Given the description of an element on the screen output the (x, y) to click on. 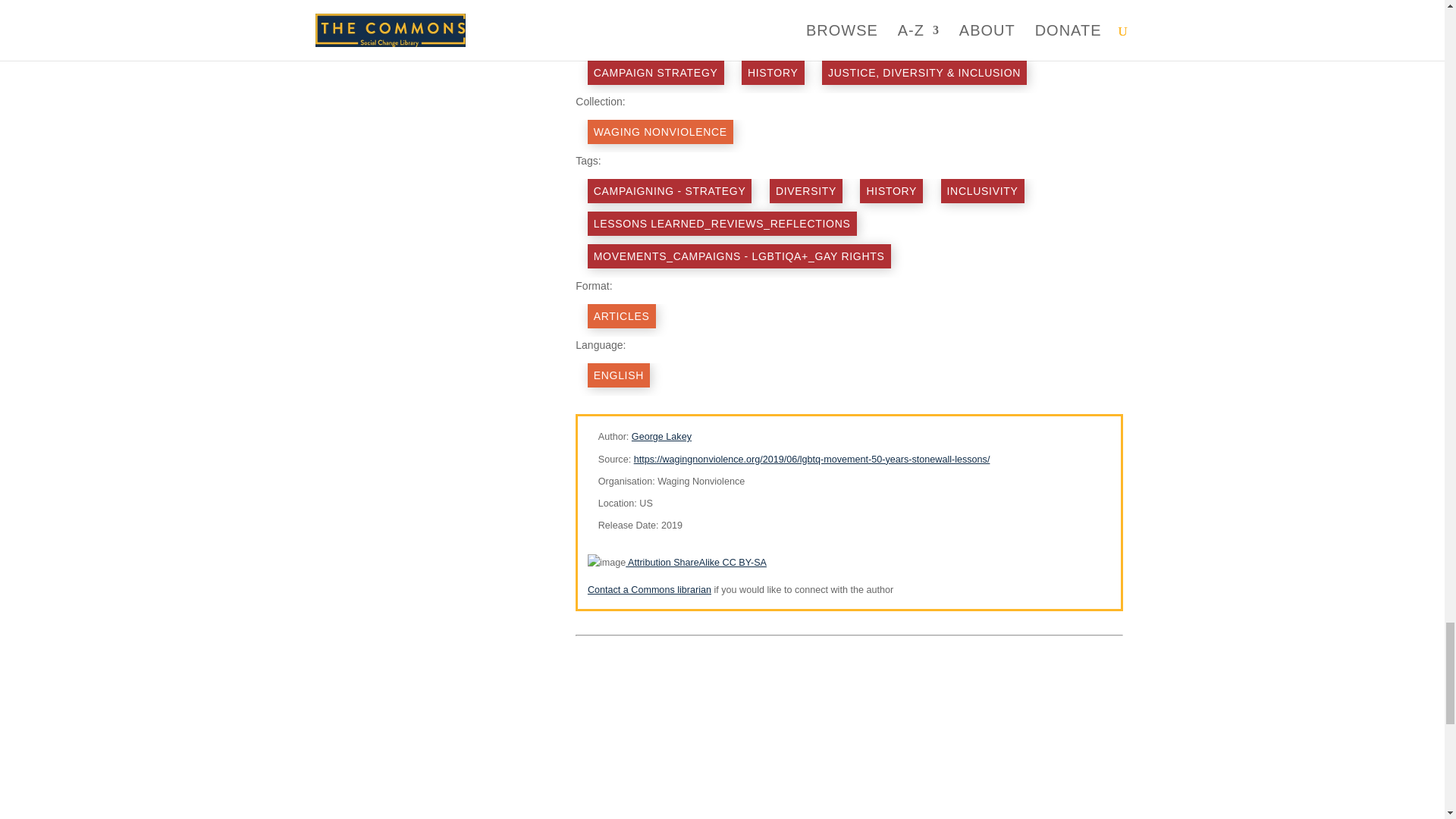
WAGING NONVIOLENCE (660, 131)
CAMPAIGN STRATEGY (655, 72)
CAMPAIGNING - STRATEGY (670, 191)
HISTORY (773, 72)
